Given the description of an element on the screen output the (x, y) to click on. 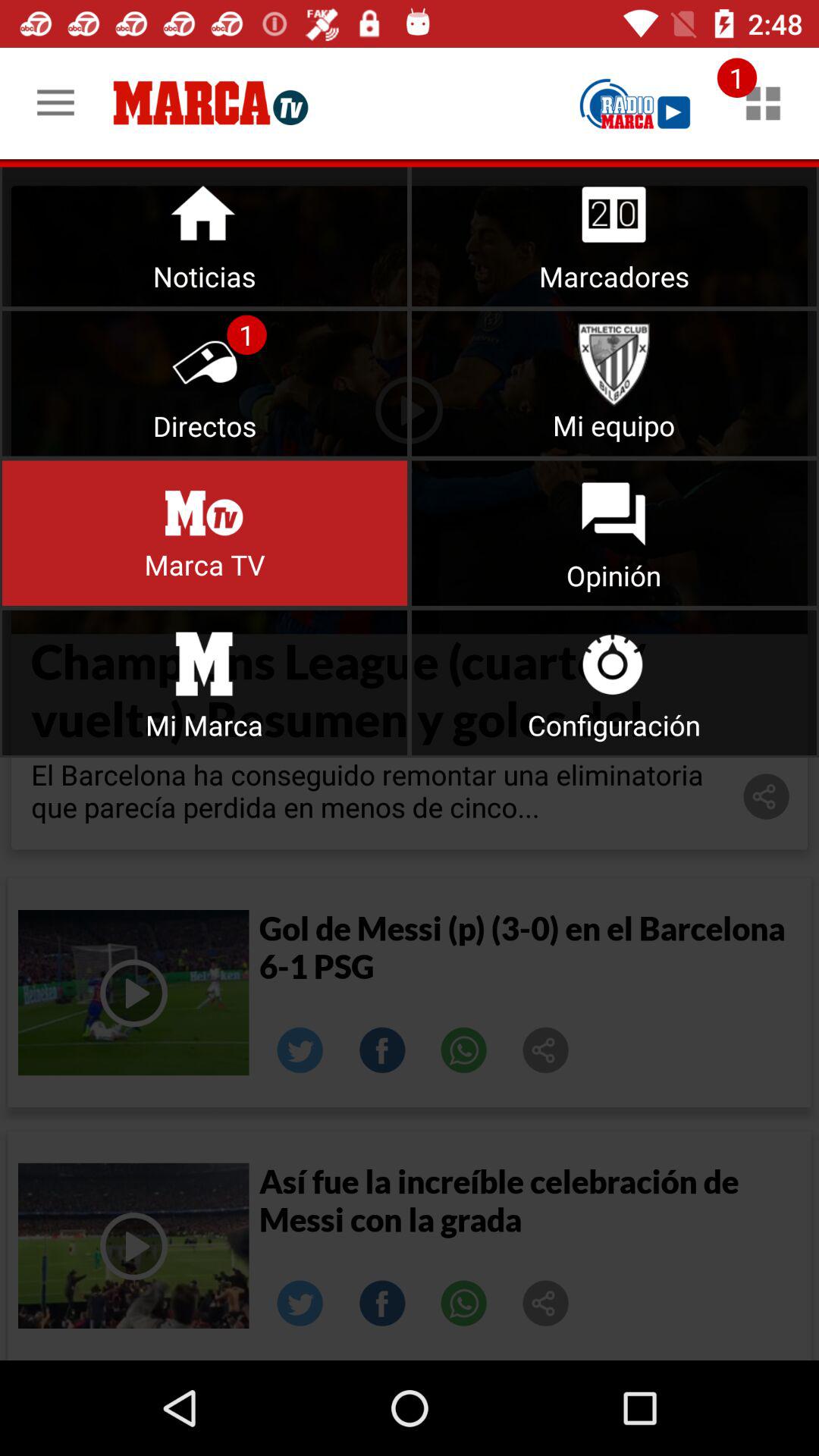
choose the icon above el barcelona ha (204, 682)
